Given the description of an element on the screen output the (x, y) to click on. 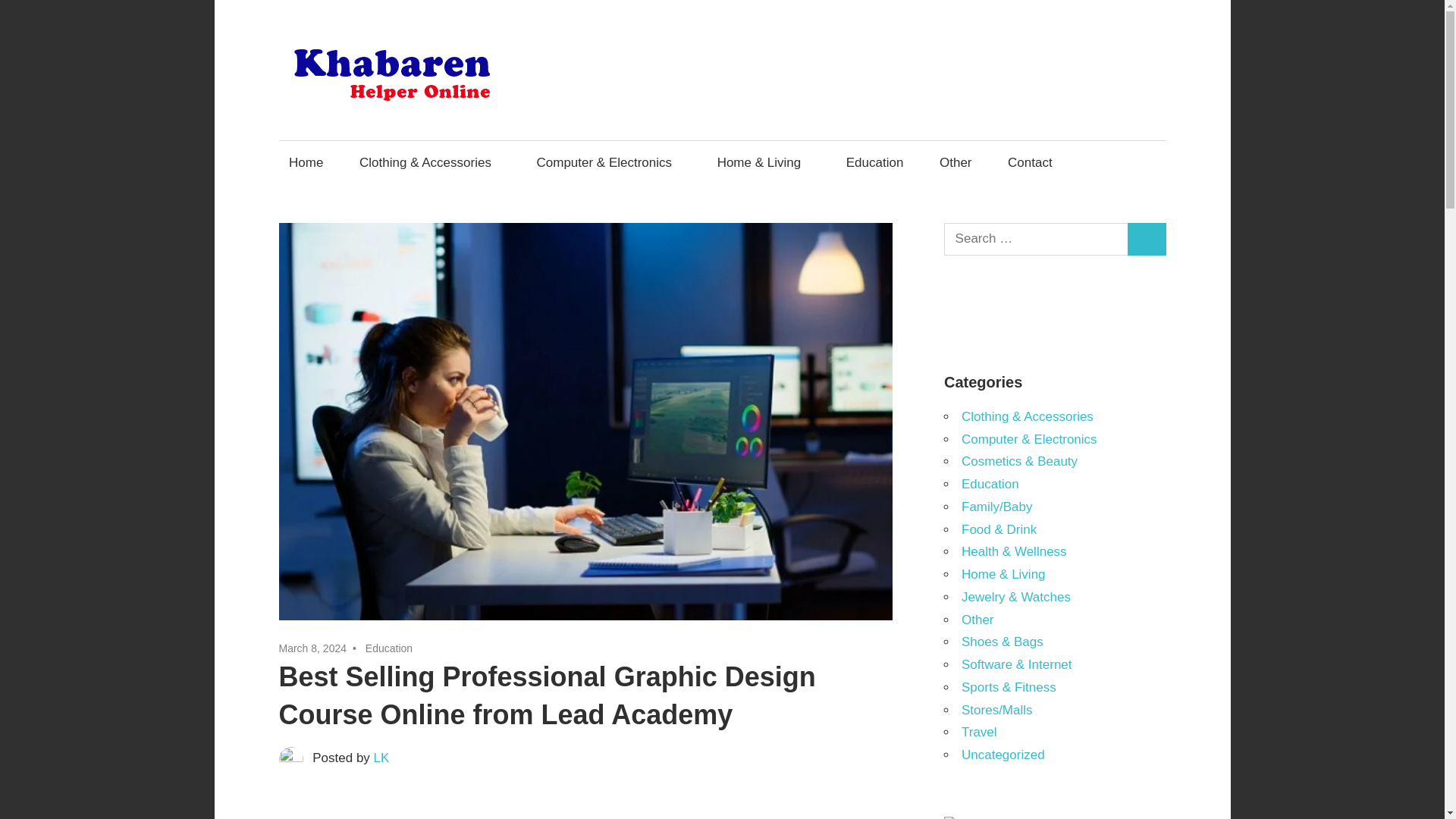
LK (382, 757)
Education (388, 648)
Other (954, 161)
Education (874, 161)
View all posts by LK (382, 757)
12:30 pm (313, 648)
Contact (1029, 161)
March 8, 2024 (313, 648)
Home (306, 161)
